Given the description of an element on the screen output the (x, y) to click on. 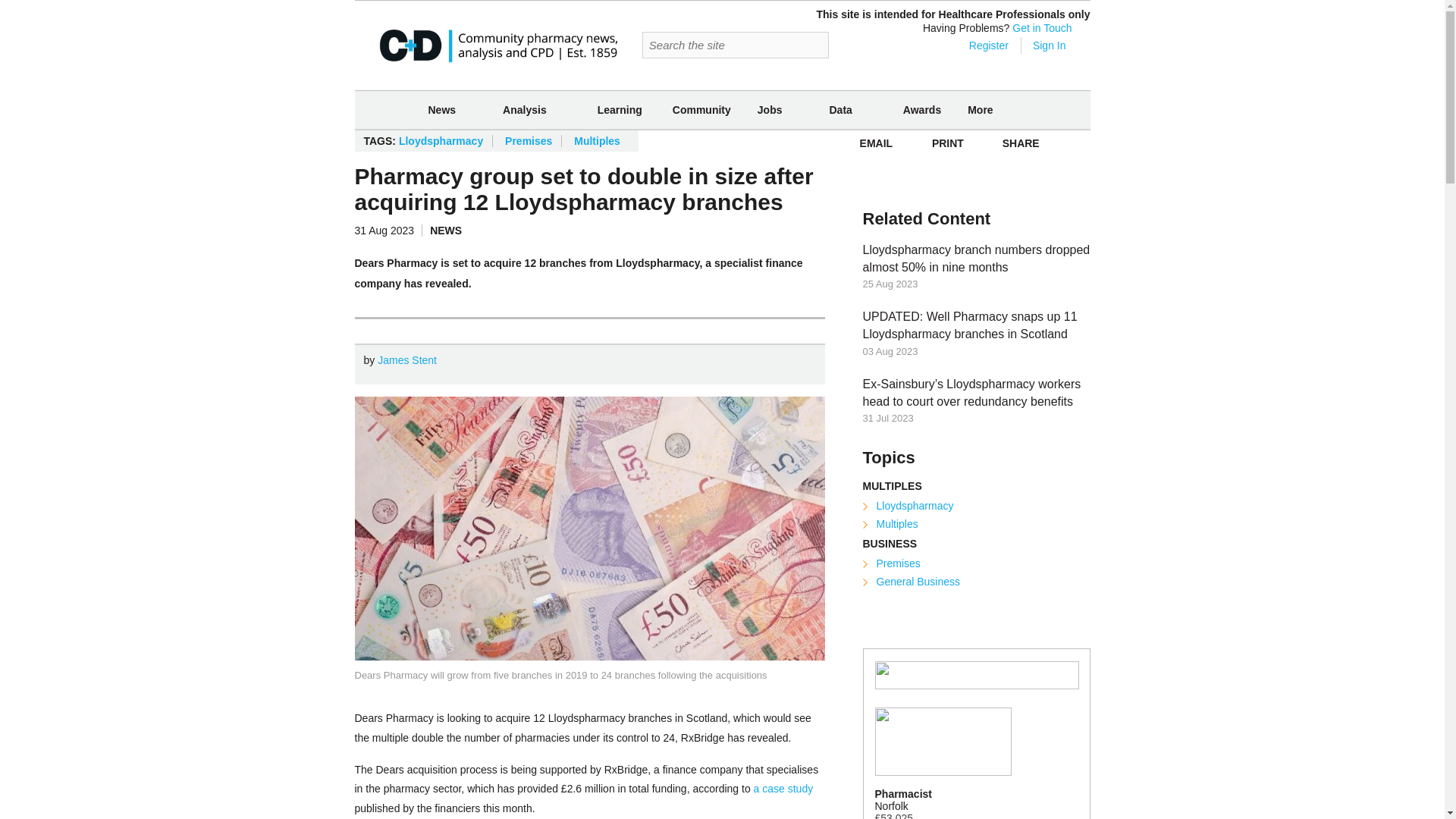
News (441, 110)
Analysis (524, 110)
Register (978, 45)
Data (839, 110)
Jobs (770, 110)
Awards (922, 109)
Sign In (1048, 45)
Community (701, 109)
Learning (620, 109)
Get in Touch (1041, 28)
